Given the description of an element on the screen output the (x, y) to click on. 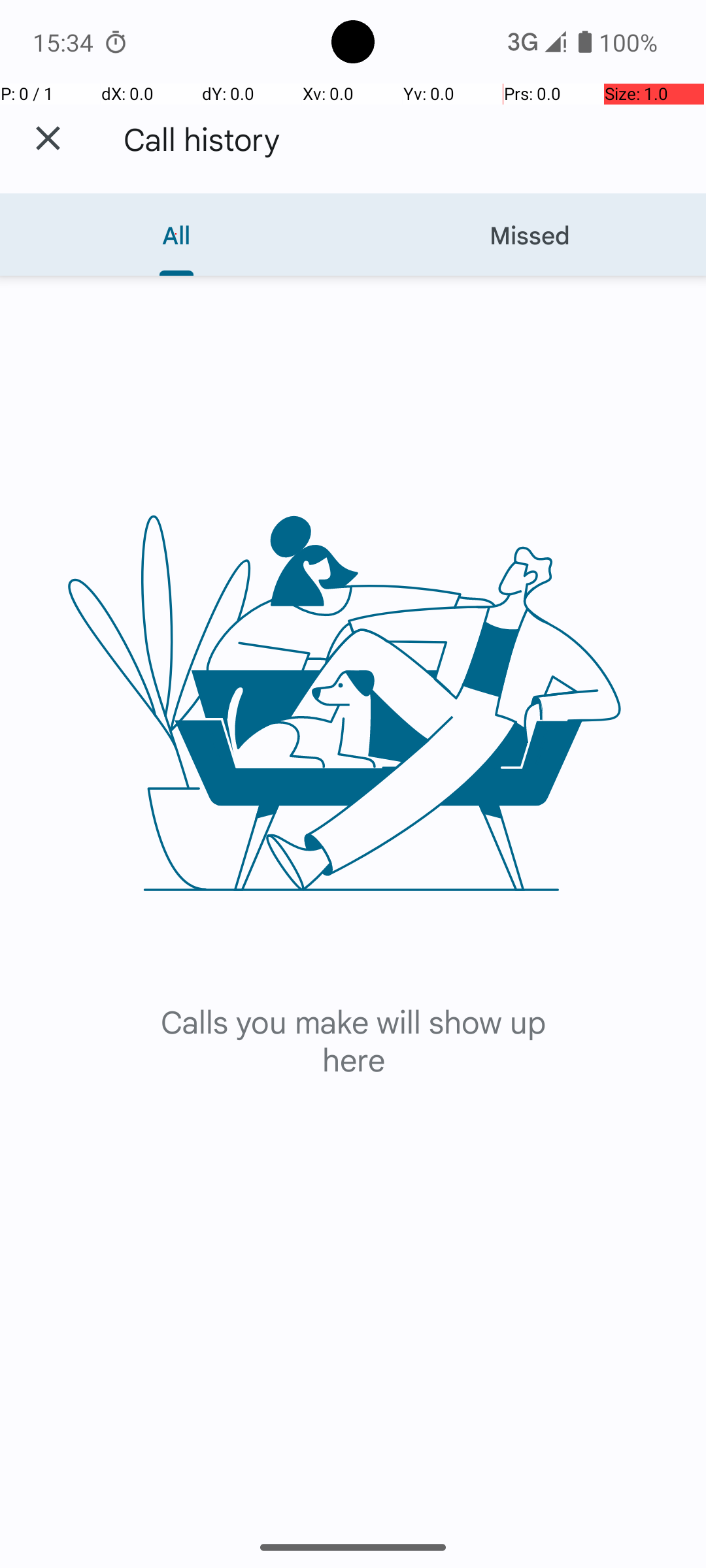
Call history Element type: android.widget.TextView (201, 138)
All Element type: android.widget.LinearLayout (176, 234)
Missed Element type: android.widget.LinearLayout (529, 234)
Calls you make will show up here Element type: android.widget.TextView (352, 1039)
